Given the description of an element on the screen output the (x, y) to click on. 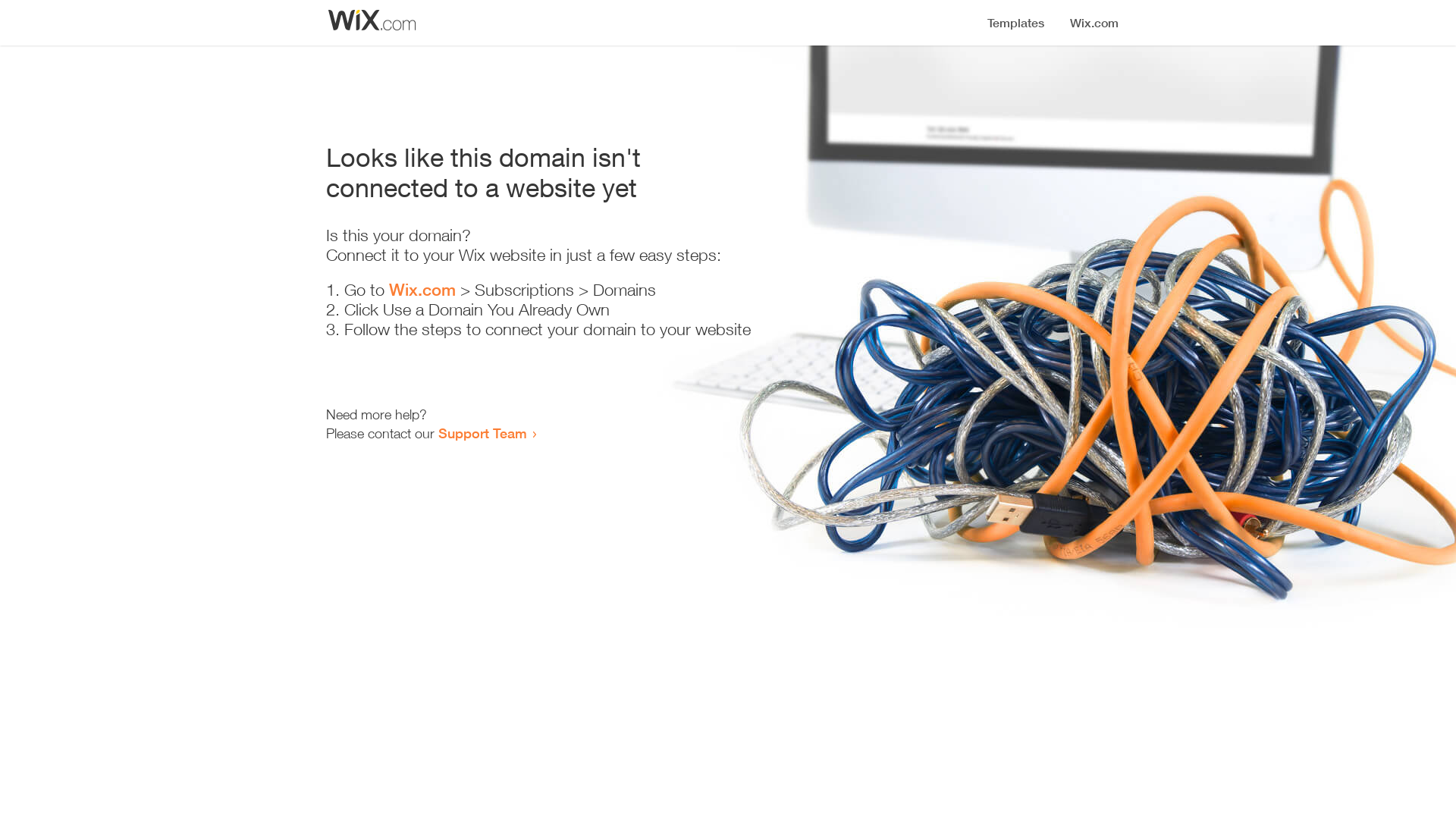
Support Team Element type: text (482, 432)
Wix.com Element type: text (422, 289)
